Given the description of an element on the screen output the (x, y) to click on. 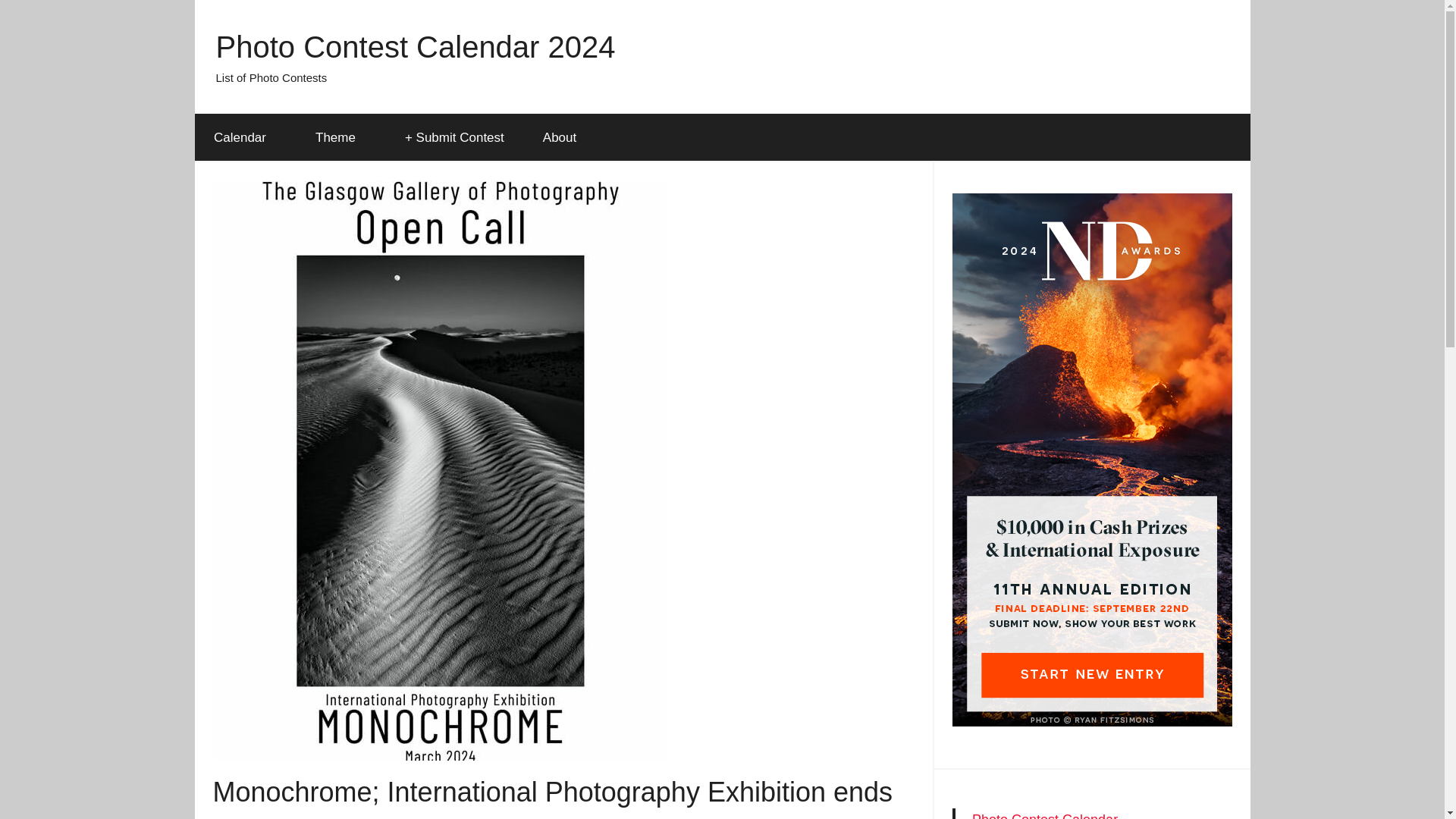
Calendar (244, 137)
Photo Contest Calendar 2024 (414, 46)
Theme (340, 137)
About (558, 137)
